Given the description of an element on the screen output the (x, y) to click on. 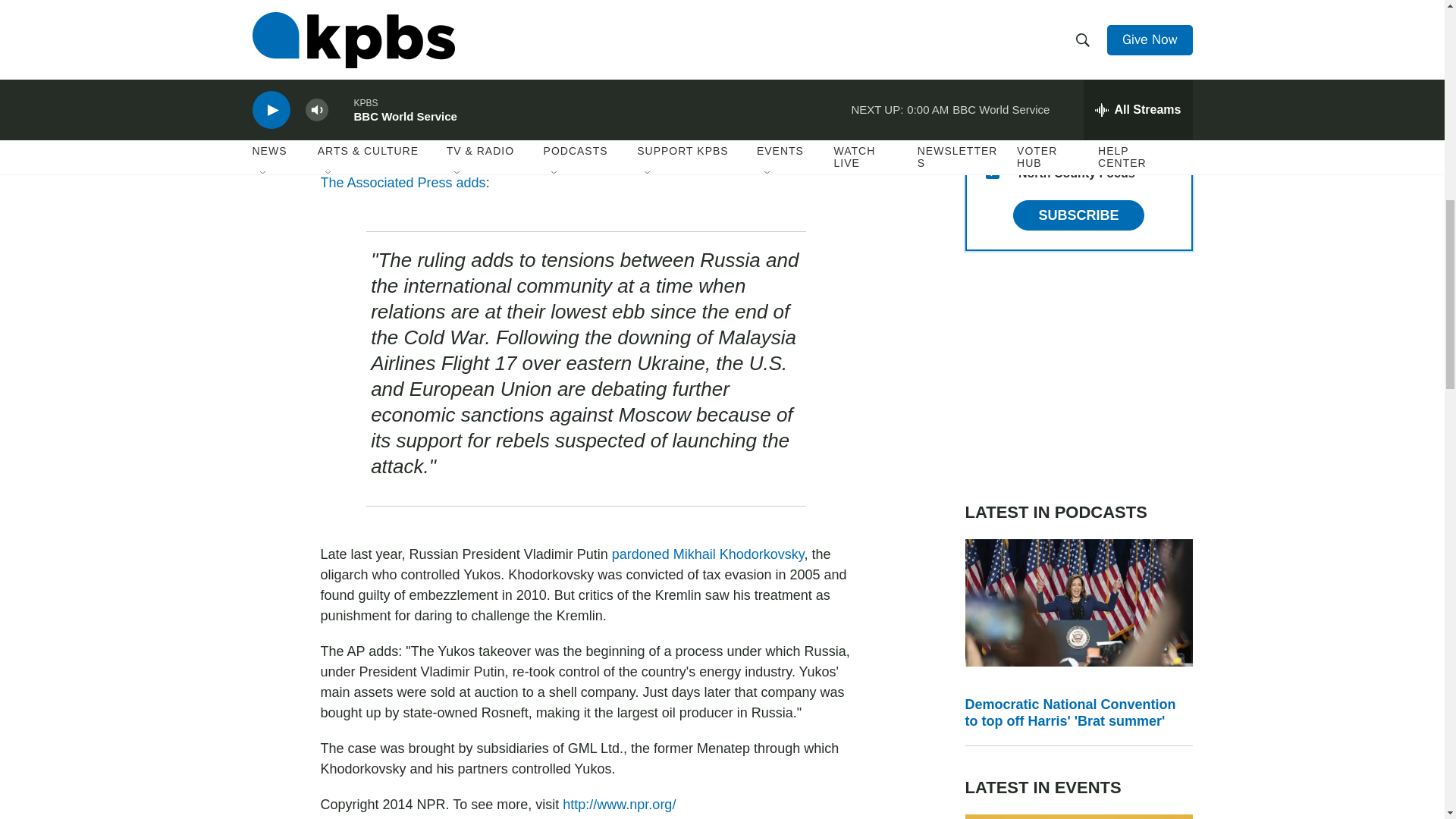
15 (991, 172)
2 (991, 62)
8 (991, 135)
6 (991, 26)
1 (991, 99)
